Given the description of an element on the screen output the (x, y) to click on. 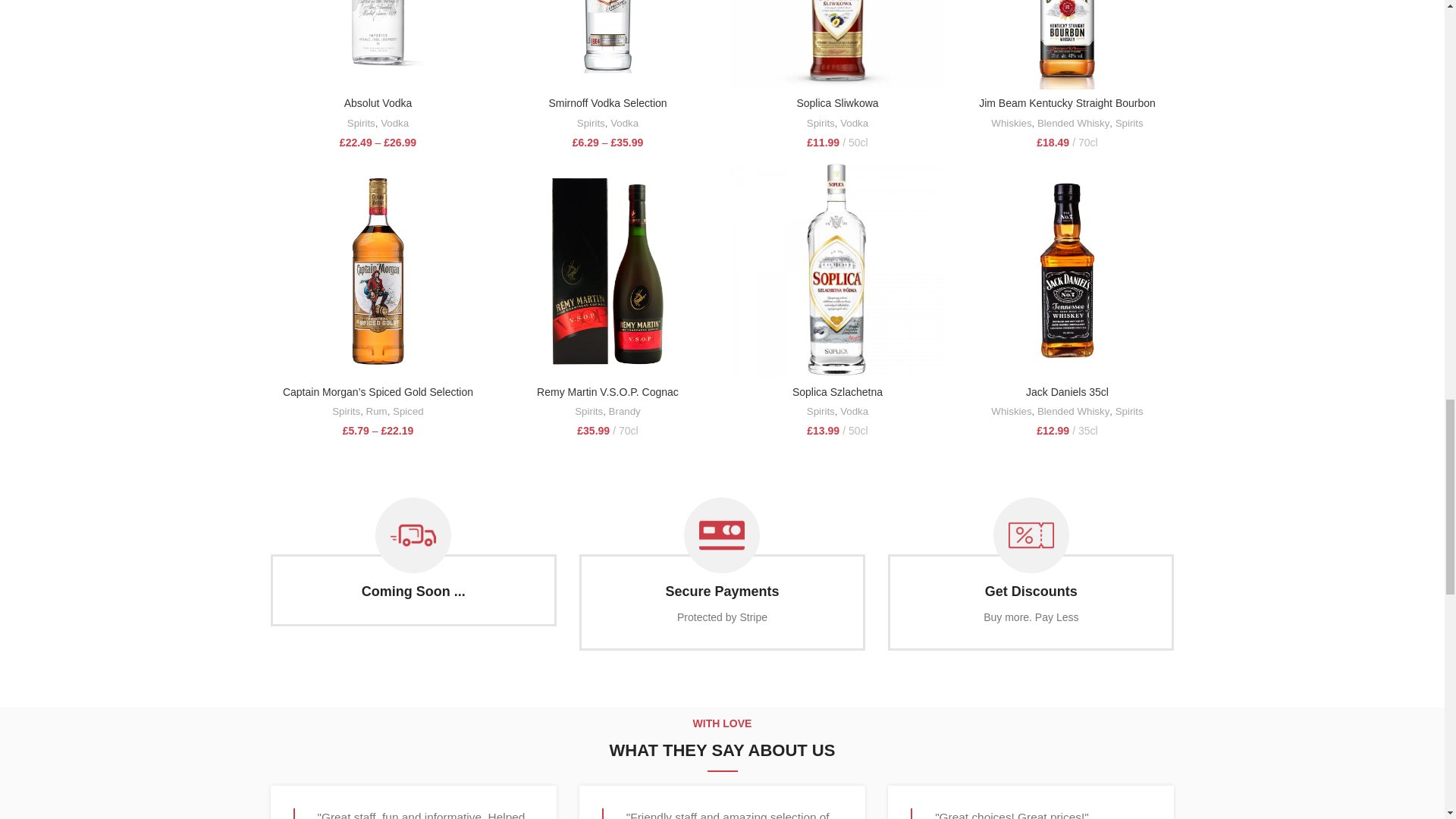
Spirits (360, 124)
Absolut Vodka (377, 103)
Vodka (394, 124)
